Given the description of an element on the screen output the (x, y) to click on. 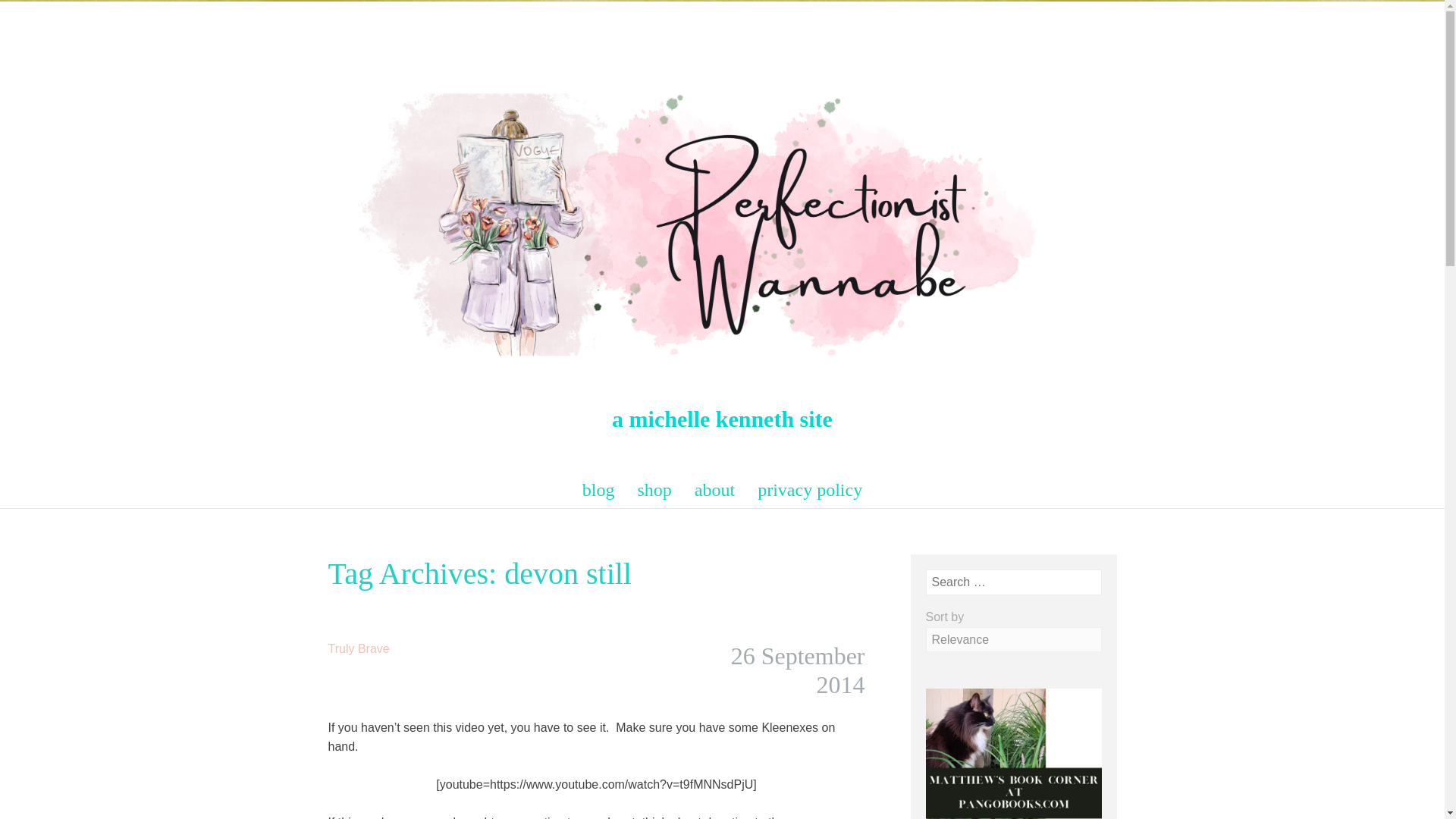
blog (598, 489)
privacy policy (809, 489)
skip to content (313, 479)
Truly Brave (357, 648)
shop (654, 489)
Search (29, 14)
about (714, 489)
26 September 2014 (797, 670)
